Given the description of an element on the screen output the (x, y) to click on. 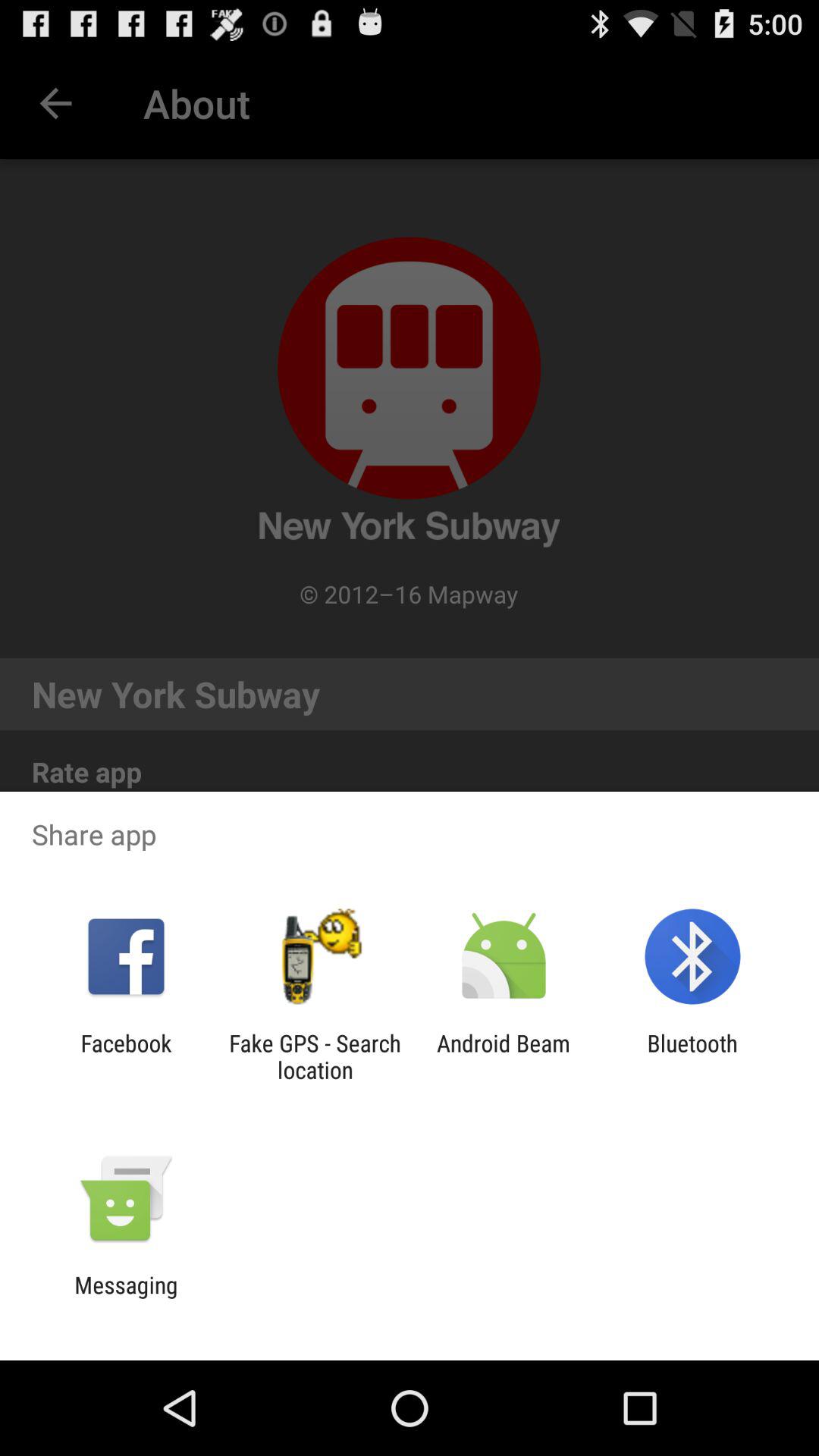
press item at the bottom right corner (692, 1056)
